Given the description of an element on the screen output the (x, y) to click on. 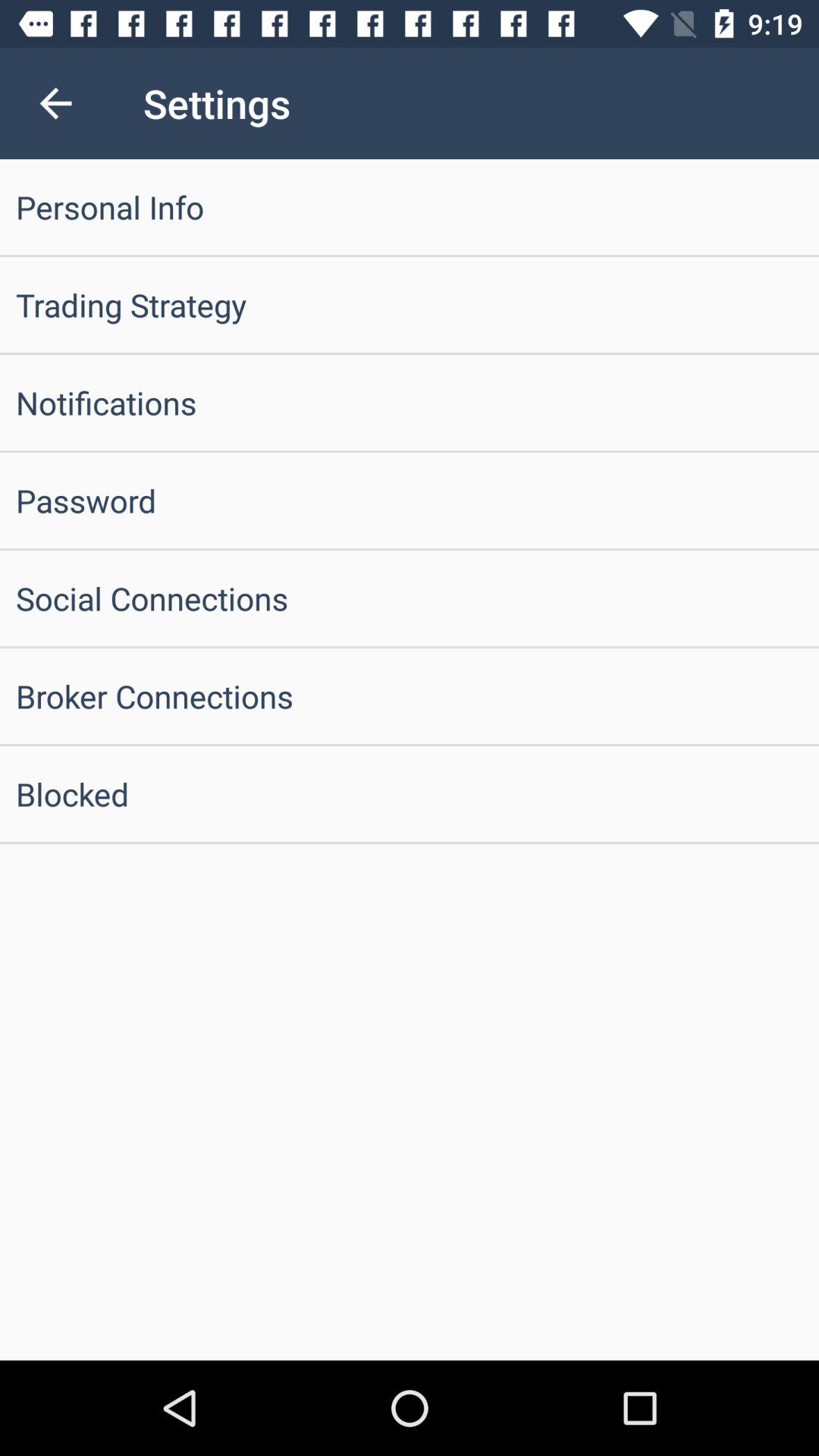
click the social connections item (409, 598)
